Given the description of an element on the screen output the (x, y) to click on. 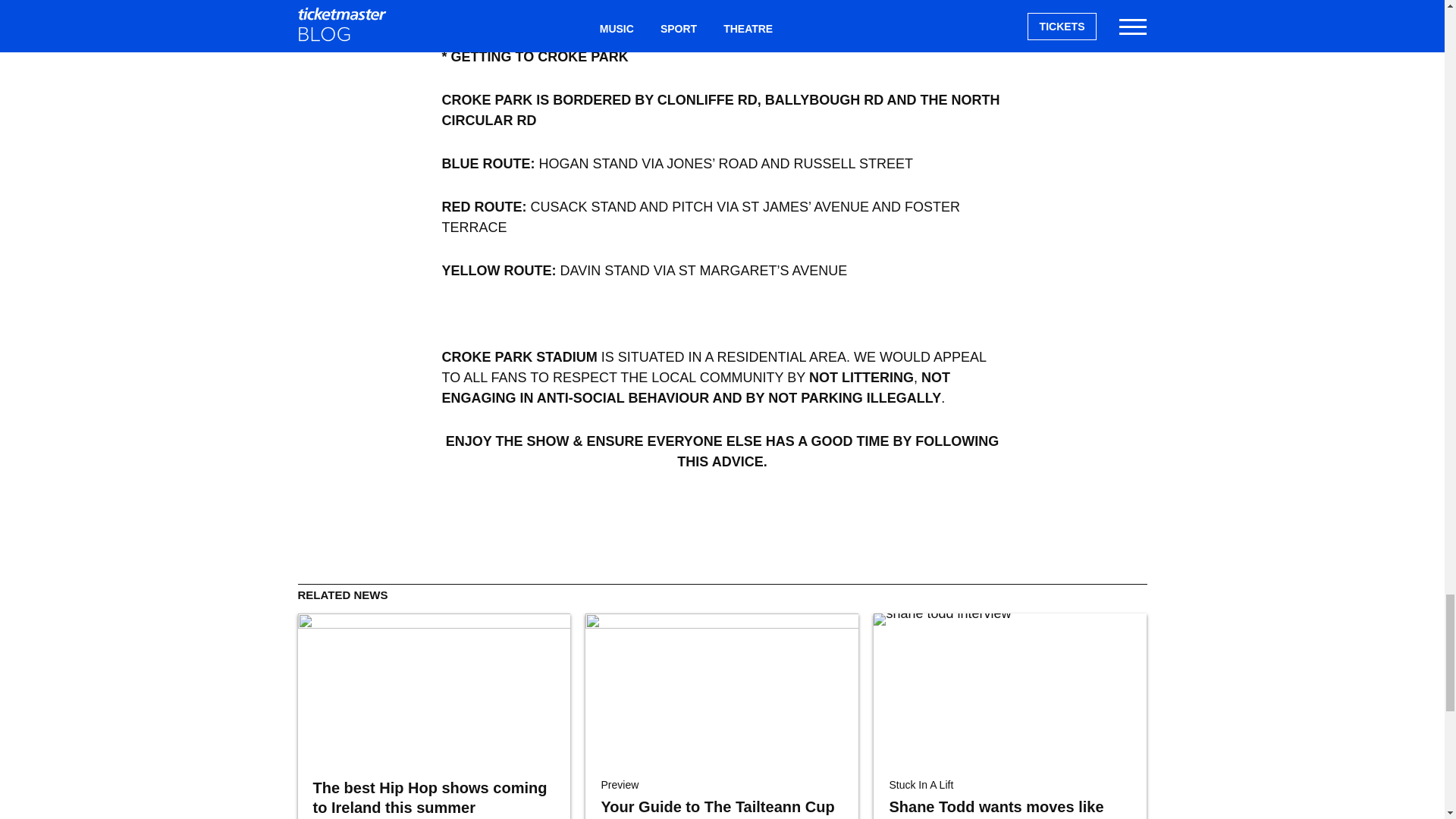
Shane Todd wants moves like Jagger (1010, 689)
Shane Todd wants moves like Jagger (995, 808)
The best Hip Hop shows coming to Ireland this summer (433, 689)
Your Guide to The Tailteann Cup (722, 689)
Your Guide to The Tailteann Cup (716, 806)
The best Hip Hop shows coming to Ireland this summer (430, 797)
